Given the description of an element on the screen output the (x, y) to click on. 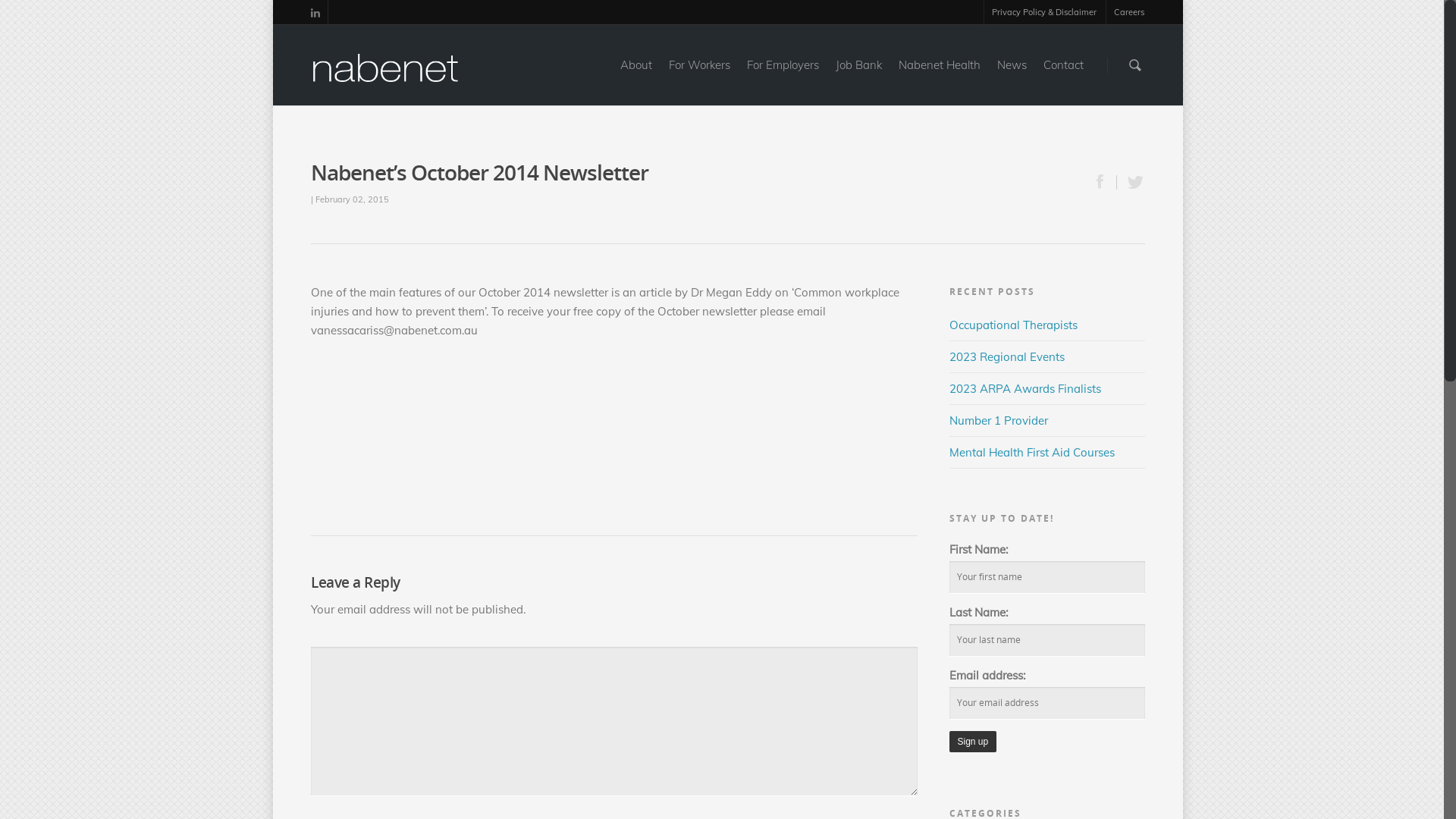
News Element type: text (1011, 75)
Occupational Therapists Element type: text (1013, 323)
Contact Element type: text (1063, 75)
Nabenet Health Element type: text (939, 75)
For Employers Element type: text (782, 75)
Careers Element type: text (1124, 12)
2023 Regional Events Element type: text (1006, 355)
Mental Health First Aid Courses Element type: text (1031, 451)
2023 ARPA Awards Finalists Element type: text (1025, 387)
Tweet this Element type: hover (1131, 182)
Number 1 Provider Element type: text (998, 419)
For Workers Element type: text (699, 75)
Share this Element type: hover (1101, 182)
Sign up Element type: text (973, 741)
About Element type: text (635, 75)
Job Bank Element type: text (858, 75)
Privacy Policy & Disclaimer Element type: text (1043, 12)
